Given the description of an element on the screen output the (x, y) to click on. 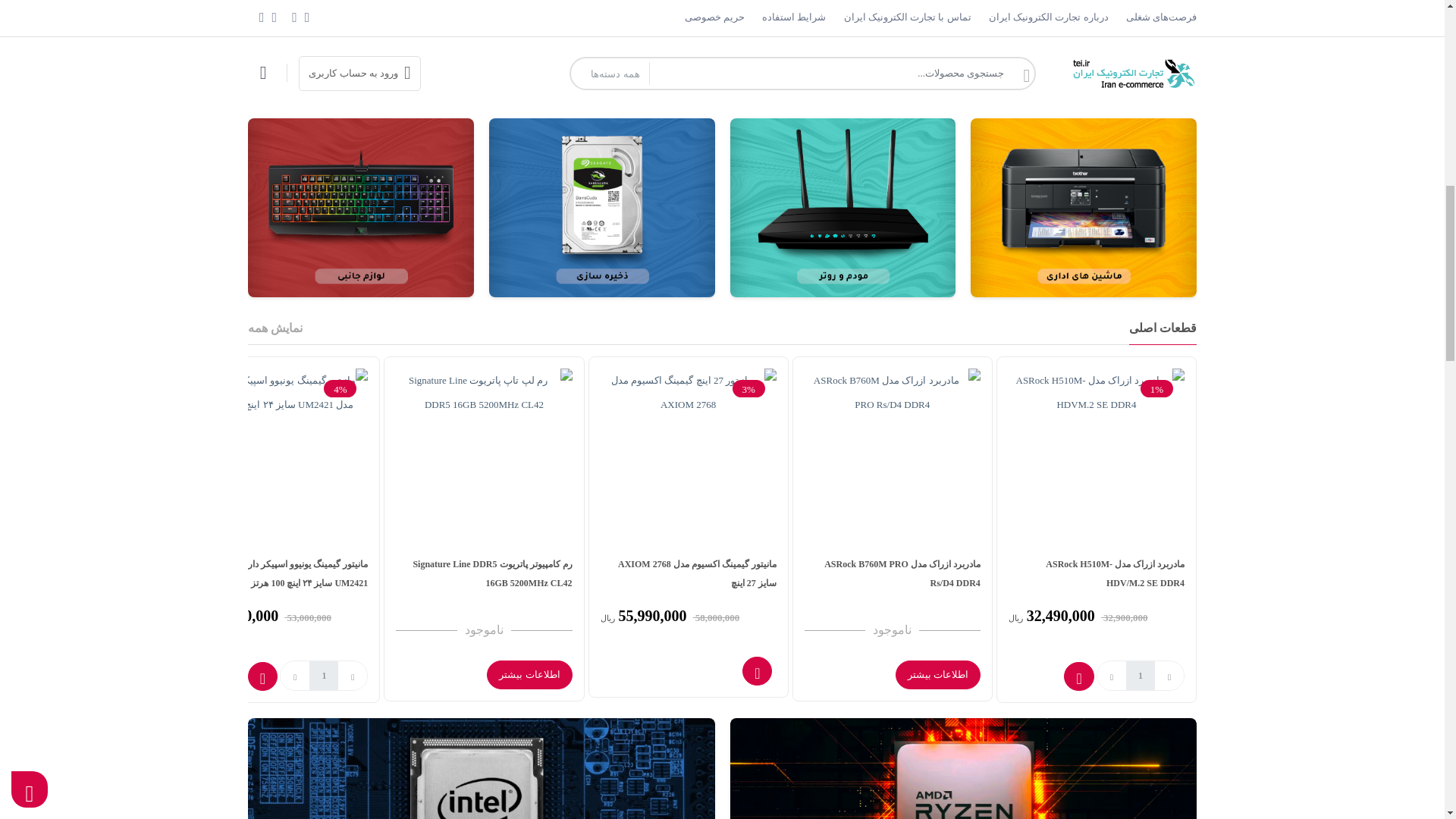
Laptop Lenovo V15 Ryzen 3 7320U 8GB 256GB SSD Lan FHD (892, 16)
1 (935, 51)
Laptop Lenovo Ideapad 1 Ryzen 3 7320U 8GB 256GB FHD (1097, 16)
1 (322, 675)
1 (1139, 675)
